Given the description of an element on the screen output the (x, y) to click on. 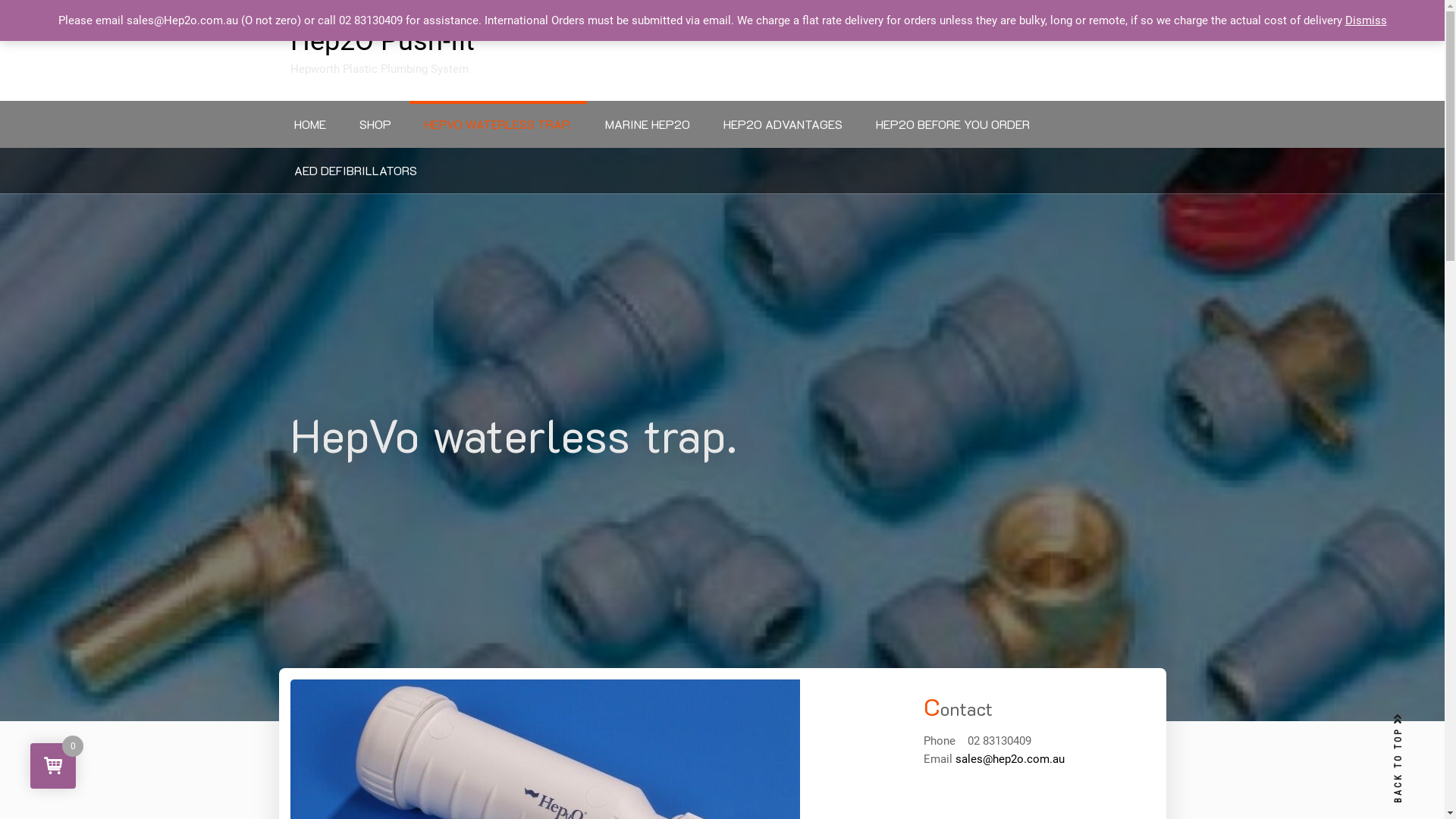
Dismiss Element type: text (1365, 20)
HEP2O BEFORE YOU ORDER Element type: text (951, 123)
sales@hep2o.com.au Element type: text (1009, 758)
HEP2O ADVANTAGES Element type: text (782, 123)
Hep2O Push-fit Element type: text (425, 40)
MARINE HEP2O Element type: text (647, 123)
HEPVO WATERLESS TRAP. Element type: text (497, 123)
SHOP Element type: text (375, 123)
AED DEFIBRILLATORS Element type: text (355, 170)
HOME Element type: text (310, 123)
